Given the description of an element on the screen output the (x, y) to click on. 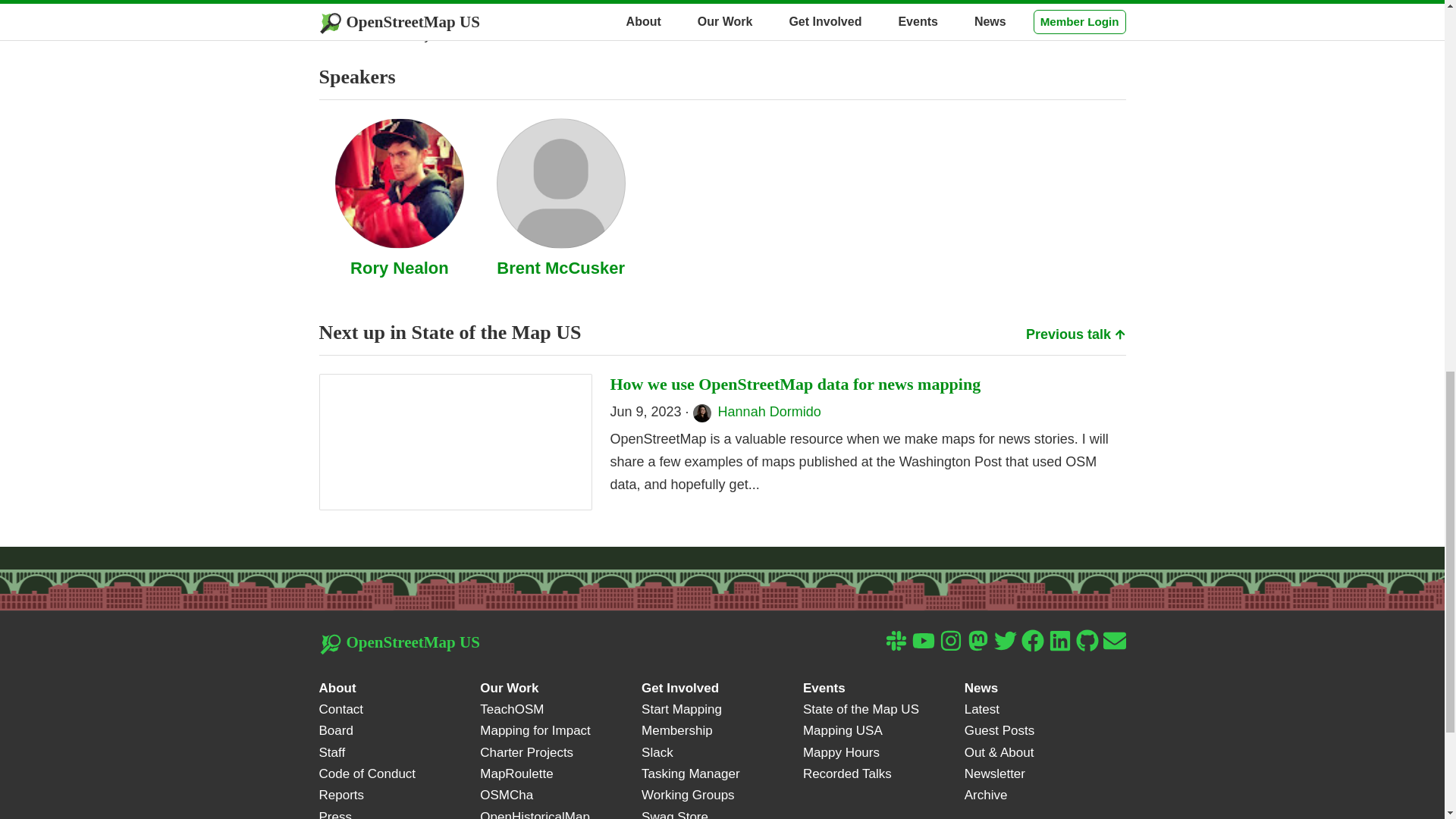
Twitter (1004, 640)
Email (1113, 640)
LinkedIn (1059, 640)
Rory Nealon (399, 267)
Slack (895, 640)
Instagram (949, 640)
Mastodon (977, 640)
YouTube (922, 640)
Facebook (1031, 640)
